Given the description of an element on the screen output the (x, y) to click on. 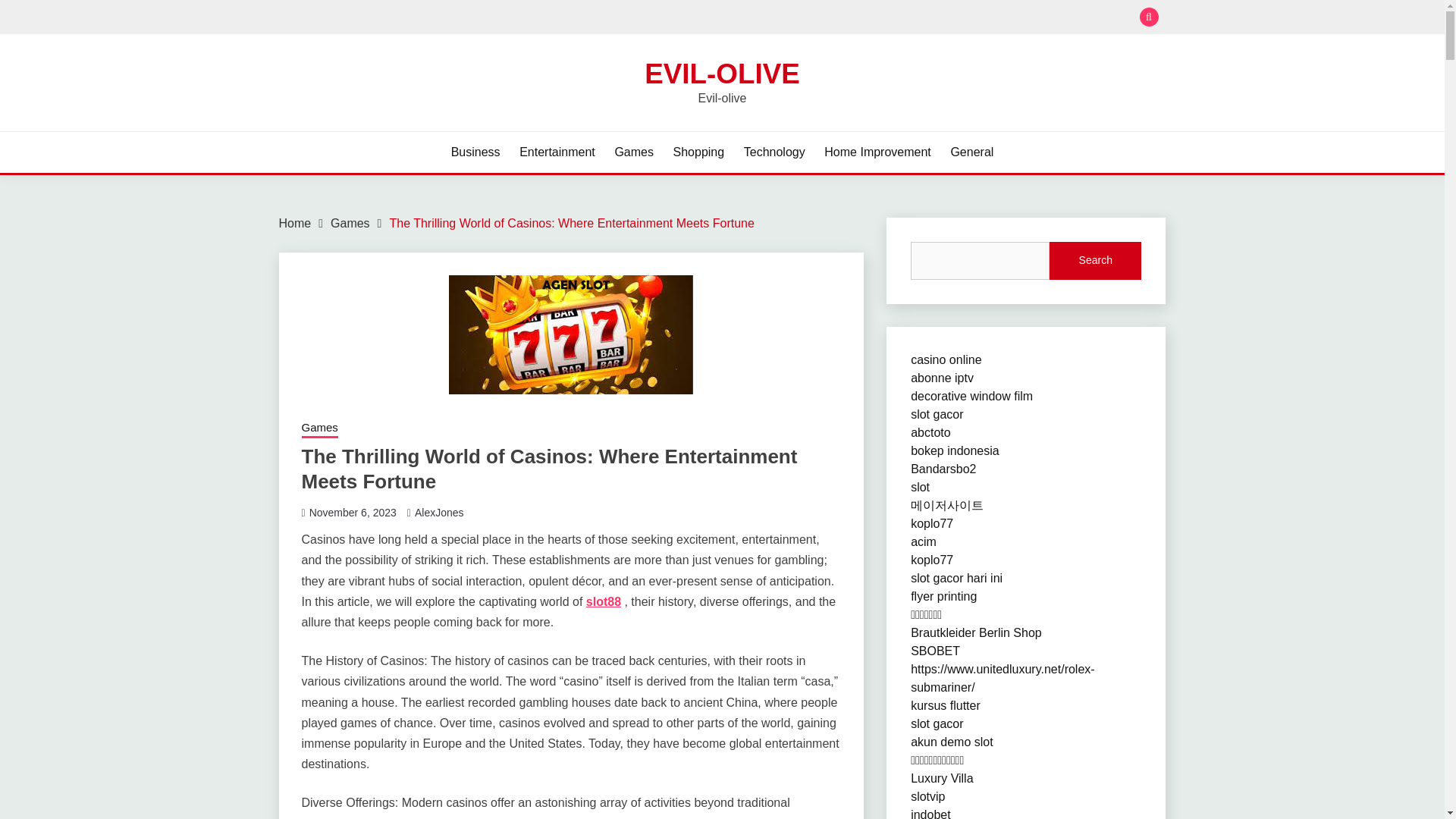
slot gacor (936, 413)
Games (633, 152)
abctoto (930, 431)
November 6, 2023 (352, 512)
Search (832, 18)
slot88 (603, 601)
General (971, 152)
decorative window film (971, 395)
Home (295, 223)
